Given the description of an element on the screen output the (x, y) to click on. 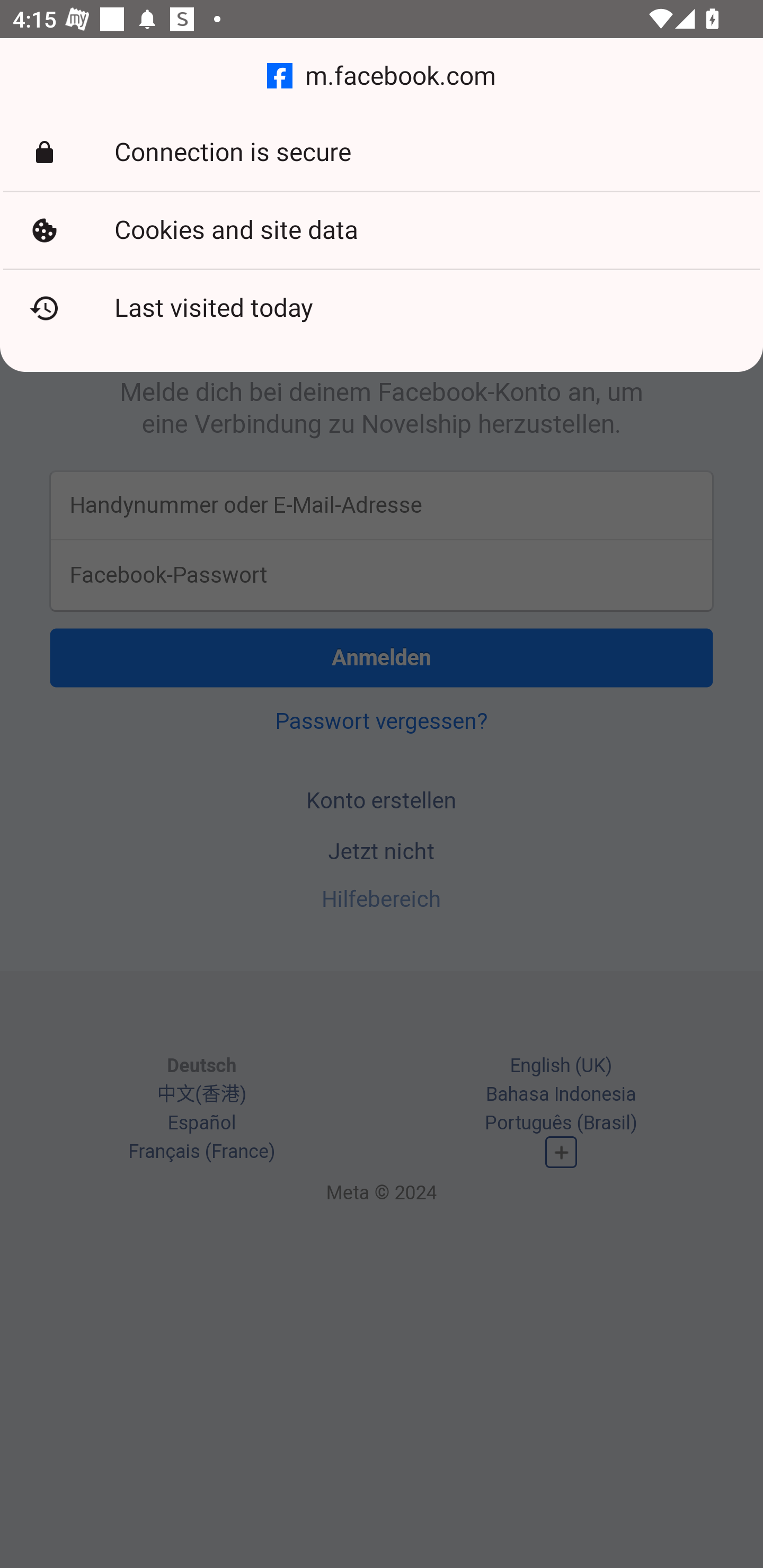
m.facebook.com (381, 75)
Connection is secure (381, 152)
Cookies and site data (381, 230)
Last visited today (381, 307)
